Given the description of an element on the screen output the (x, y) to click on. 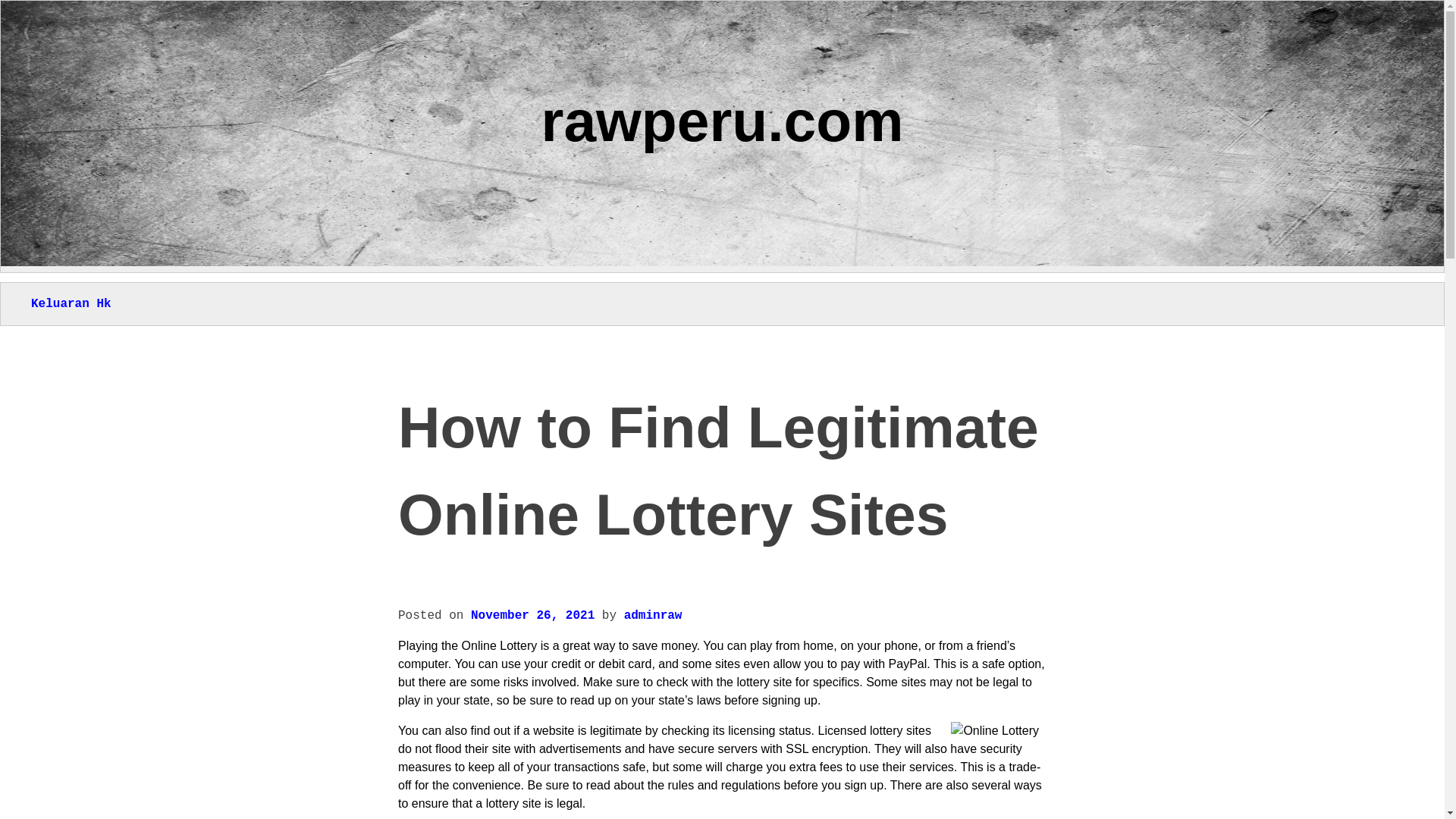
rawperu.com (722, 120)
November 26, 2021 (532, 615)
Keluaran Hk (71, 304)
adminraw (653, 615)
